Given the description of an element on the screen output the (x, y) to click on. 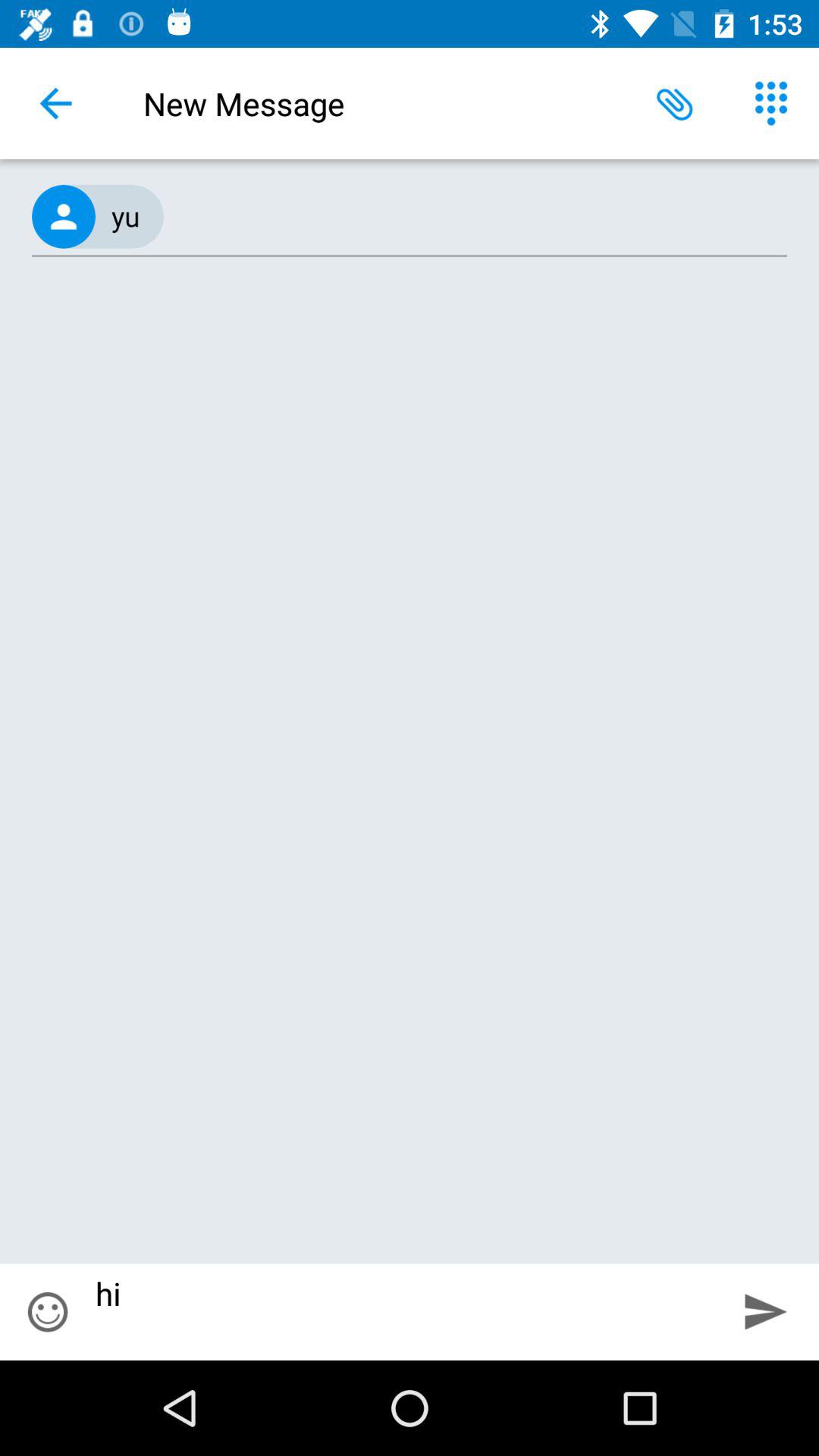
choose hi
 item (404, 1311)
